Given the description of an element on the screen output the (x, y) to click on. 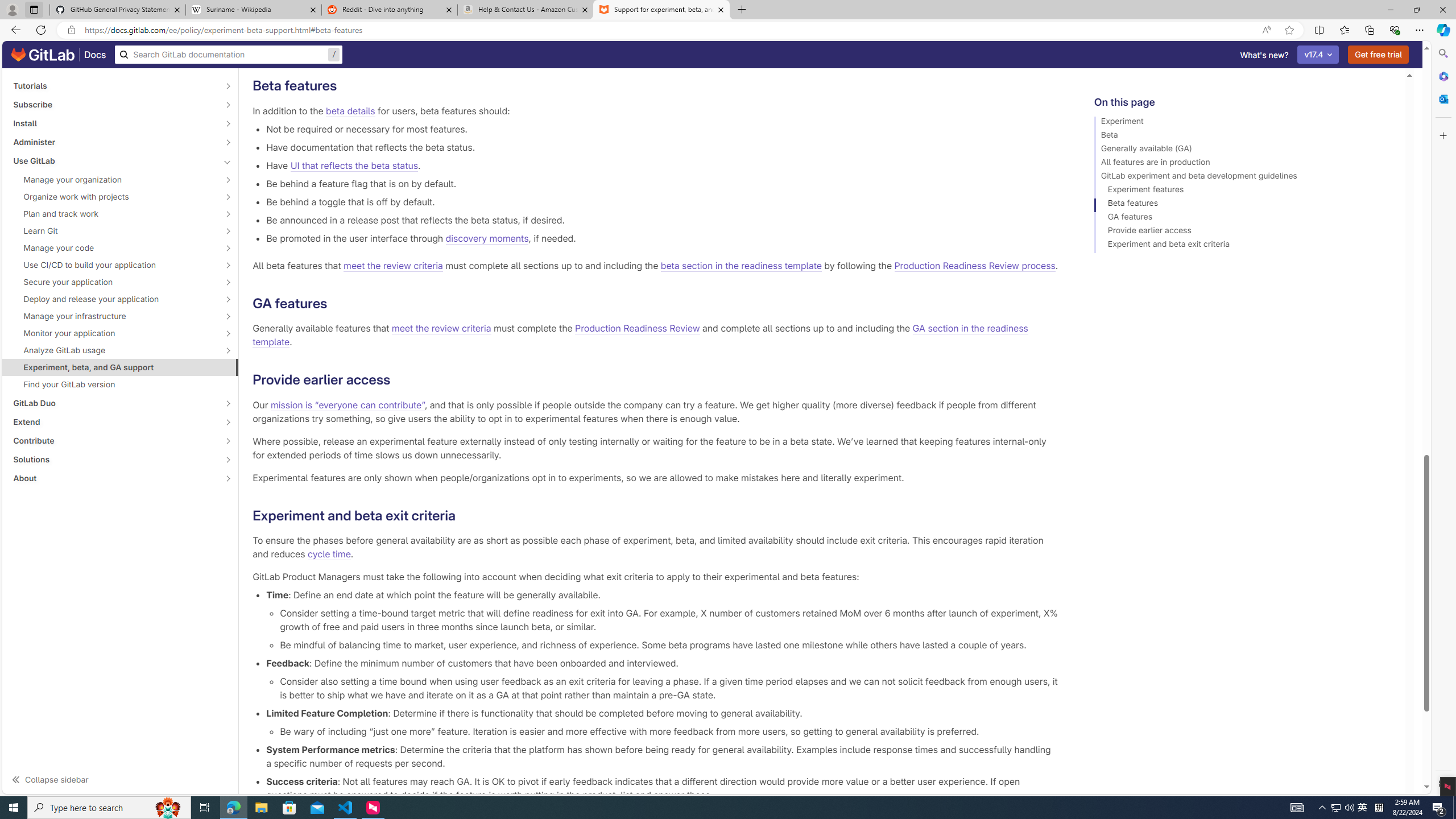
Contribute (113, 440)
What's new? (1263, 54)
Manage your infrastructure (113, 316)
experiment section in the readiness template (833, 47)
Have UI that reflects the beta status. (662, 164)
Collapse sidebar (120, 779)
Experiment (1244, 123)
Deploy and release your application (113, 298)
GitHub General Privacy Statement - GitHub Docs (117, 9)
Experiment and beta exit criteria (1244, 246)
Beta features (1244, 205)
Beta features (1244, 205)
